Given the description of an element on the screen output the (x, y) to click on. 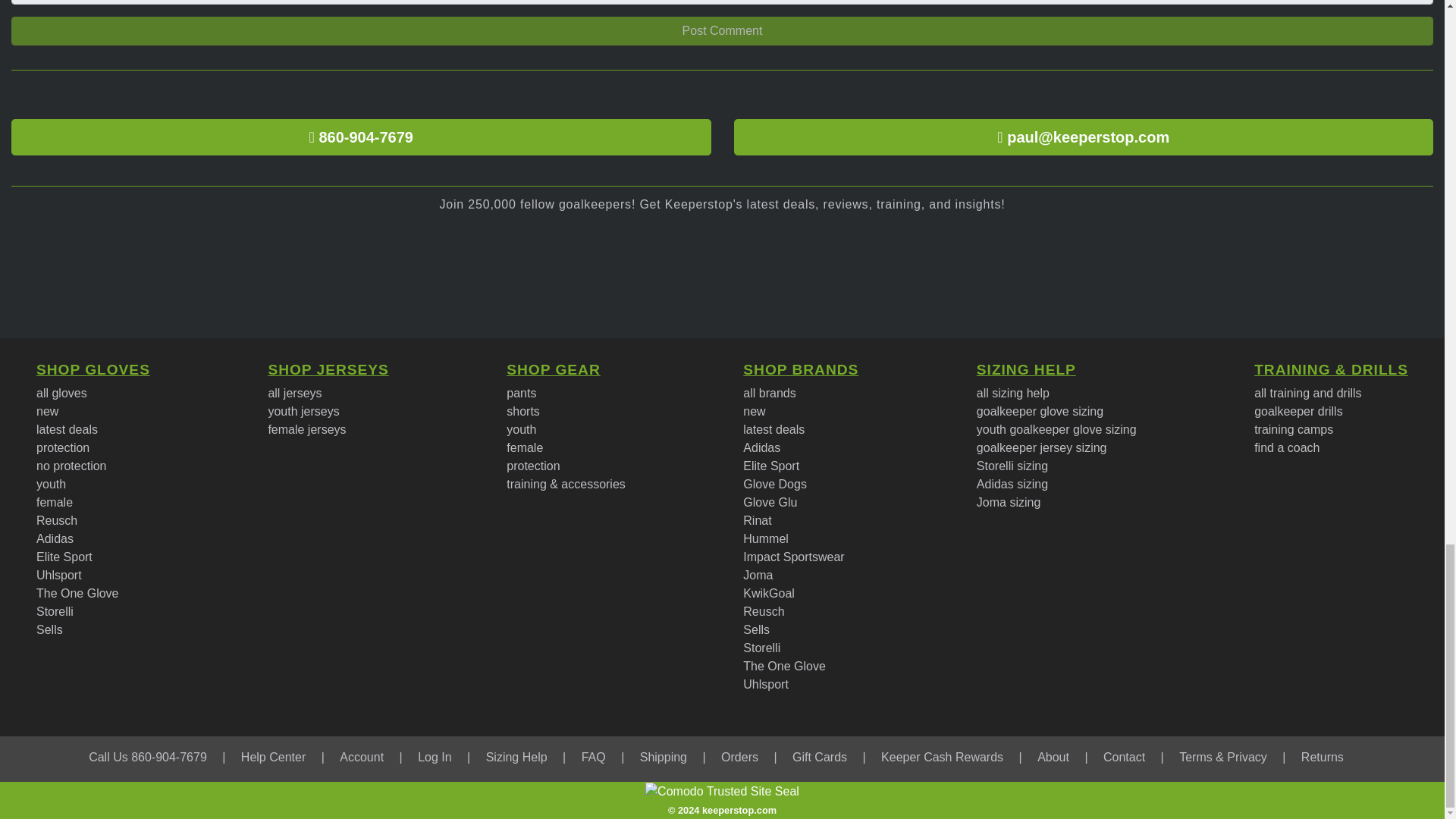
Post Comment (721, 30)
